Given the description of an element on the screen output the (x, y) to click on. 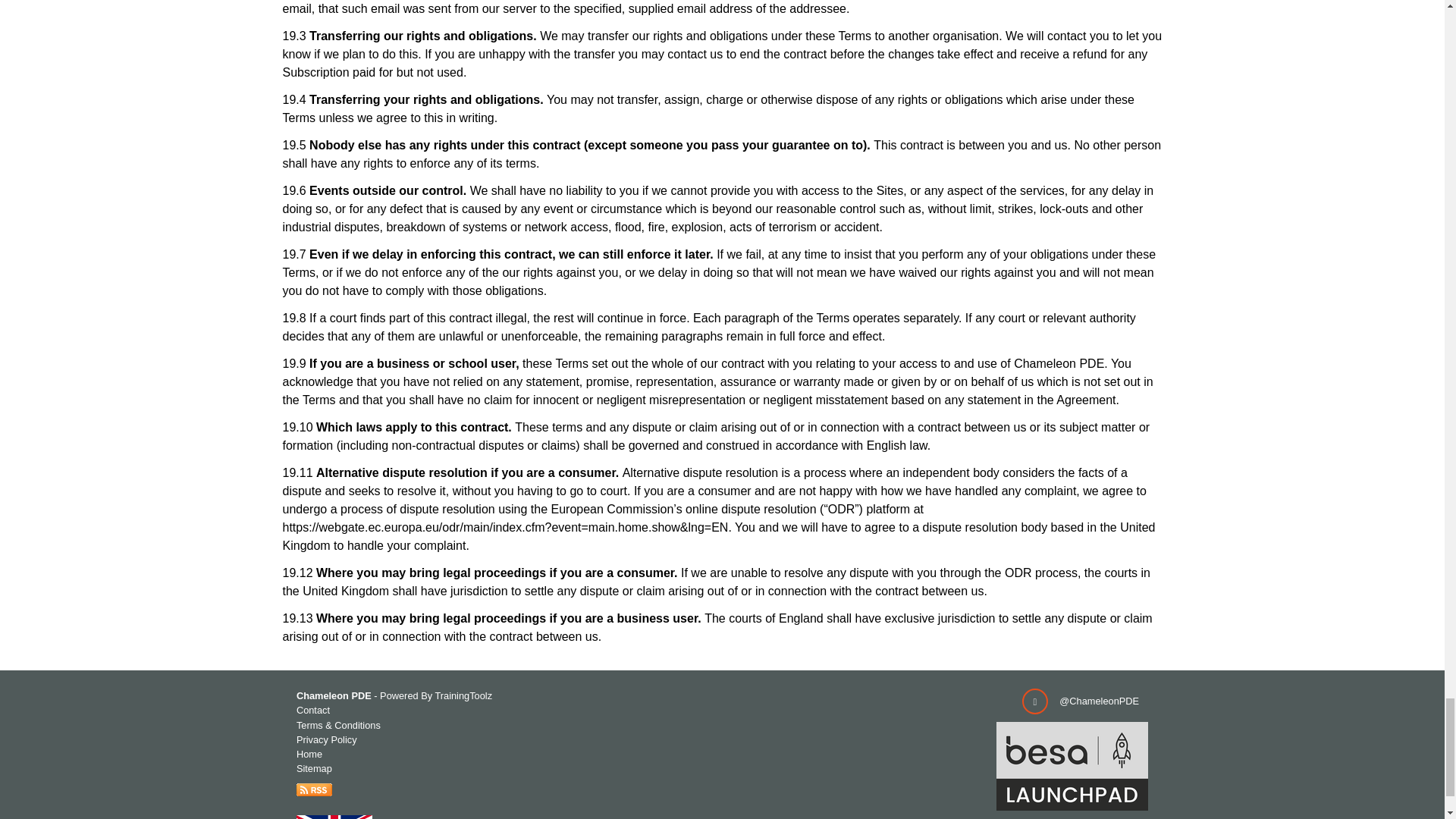
Contact (313, 709)
TrainingToolz (462, 695)
Sitemap (314, 767)
Privacy Policy (326, 739)
Home (309, 754)
